Given the description of an element on the screen output the (x, y) to click on. 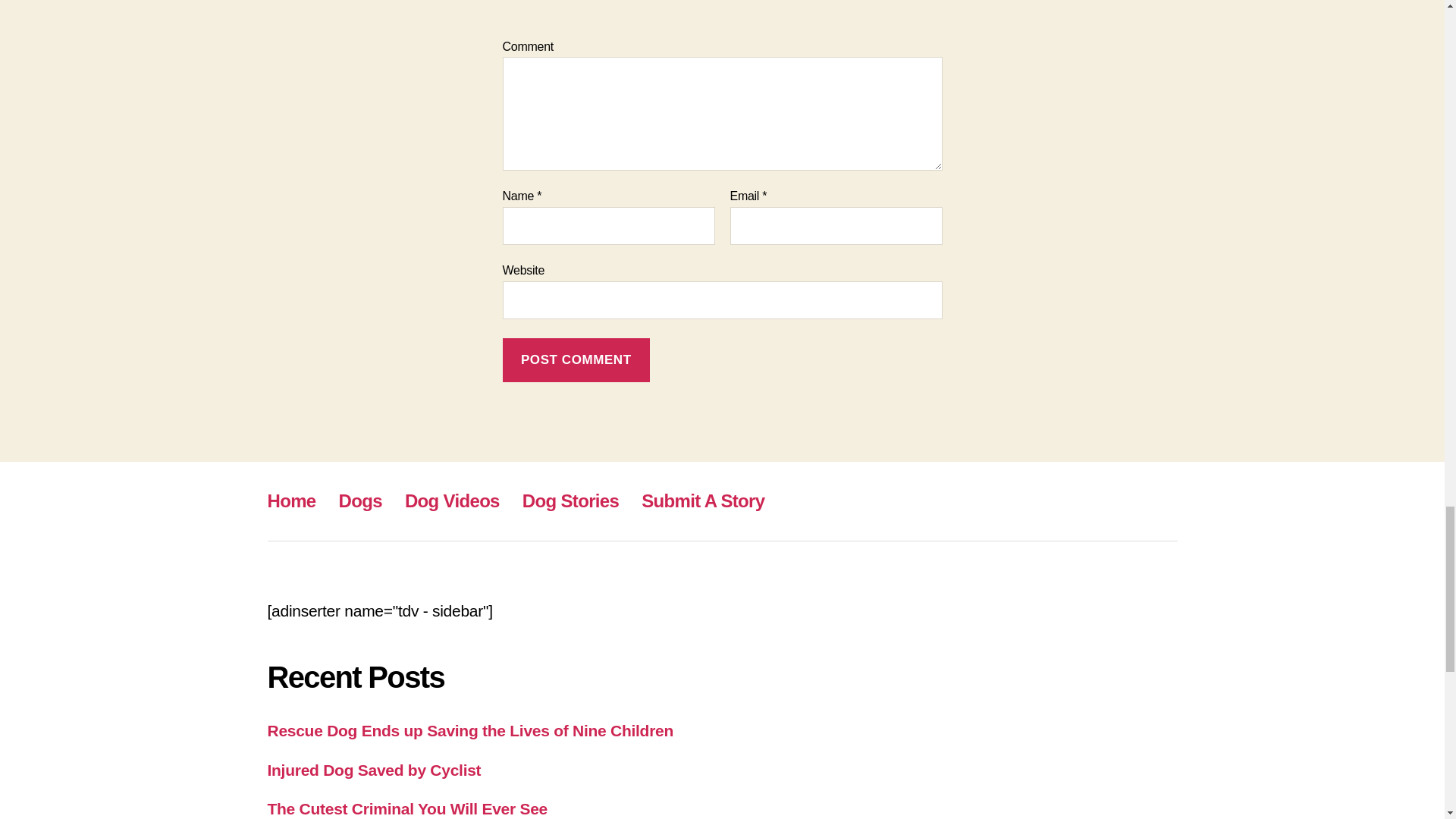
Dogs (360, 500)
Dog Stories (570, 500)
Post Comment (575, 360)
Submit A Story (703, 500)
The Cutest Criminal You Will Ever See (406, 808)
Rescue Dog Ends up Saving the Lives of Nine Children (469, 730)
Injured Dog Saved by Cyclist (373, 769)
Home (290, 500)
Post Comment (575, 360)
Dog Videos (451, 500)
